Given the description of an element on the screen output the (x, y) to click on. 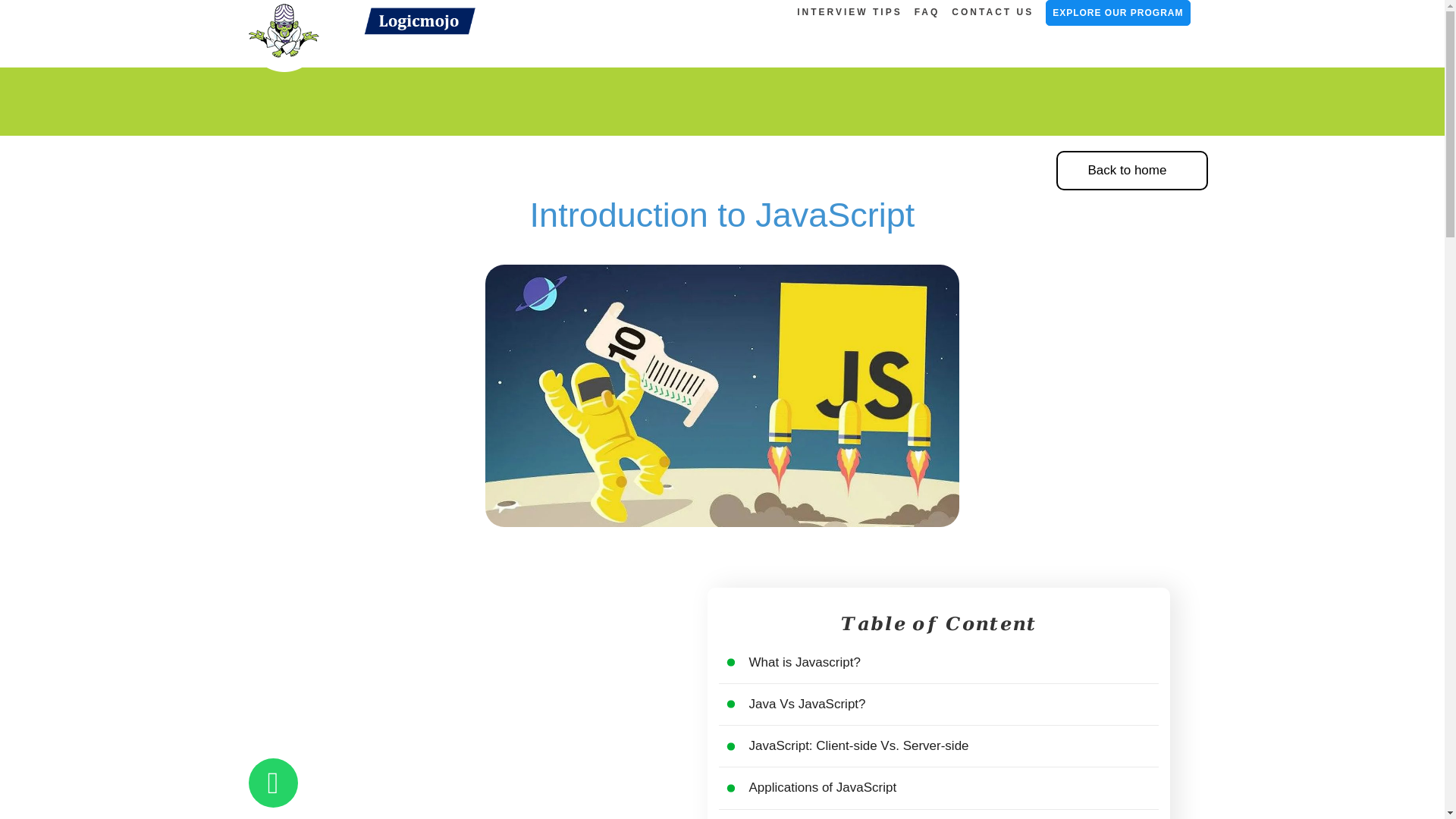
FAQ (927, 12)
What is Javascript? (804, 662)
CONTACT US (991, 12)
Applications of JavaScript (822, 787)
EXPLORE OUR PROGRAM (1117, 12)
Back to home (1131, 170)
JavaScript: Client-side Vs. Server-side (859, 745)
Java Vs JavaScript? (807, 703)
INTERVIEW TIPS (848, 12)
